Given the description of an element on the screen output the (x, y) to click on. 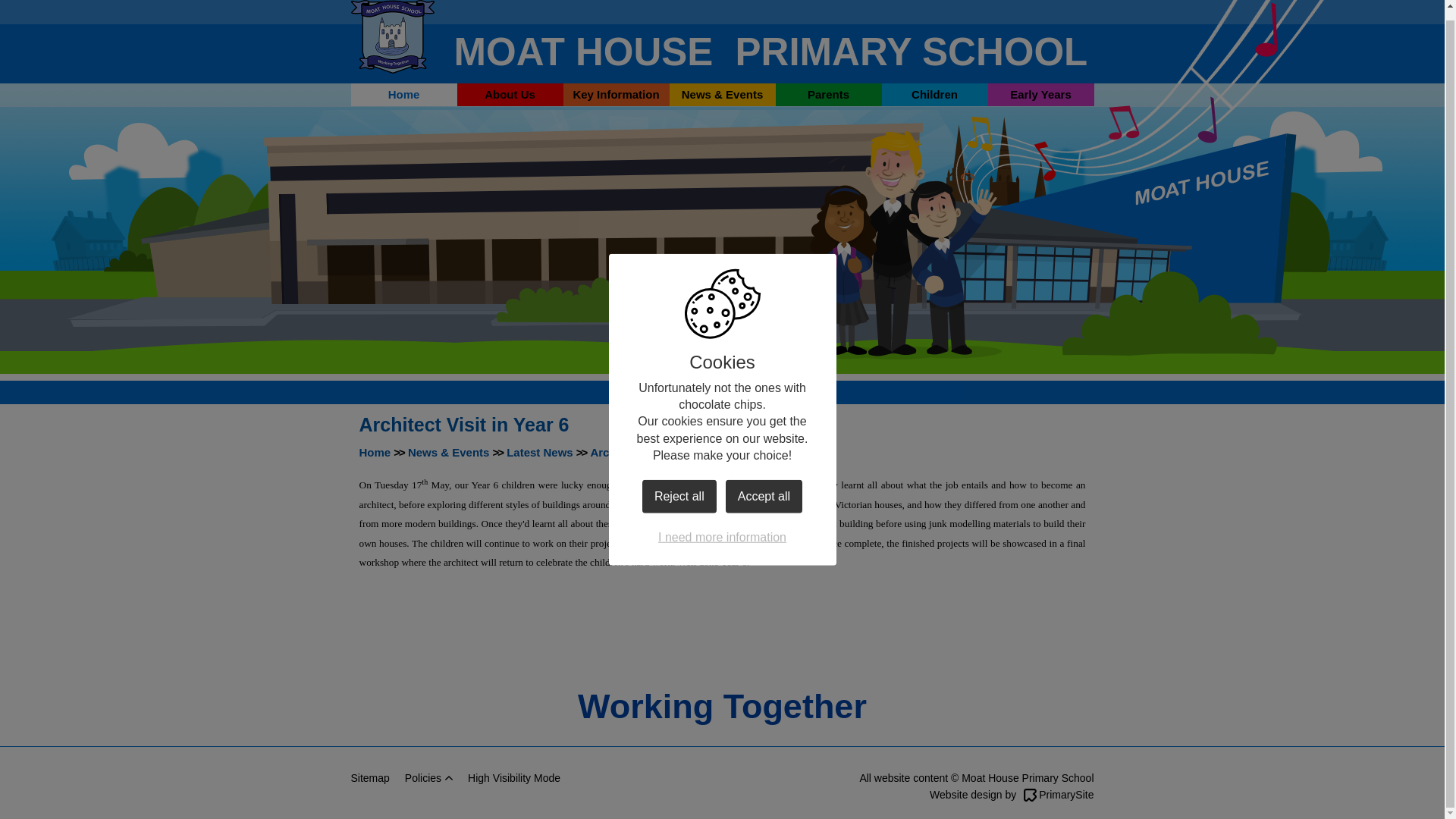
Key Information (615, 94)
Home Page (391, 36)
About Us (509, 94)
Log In (1008, 12)
Home (403, 94)
